Given the description of an element on the screen output the (x, y) to click on. 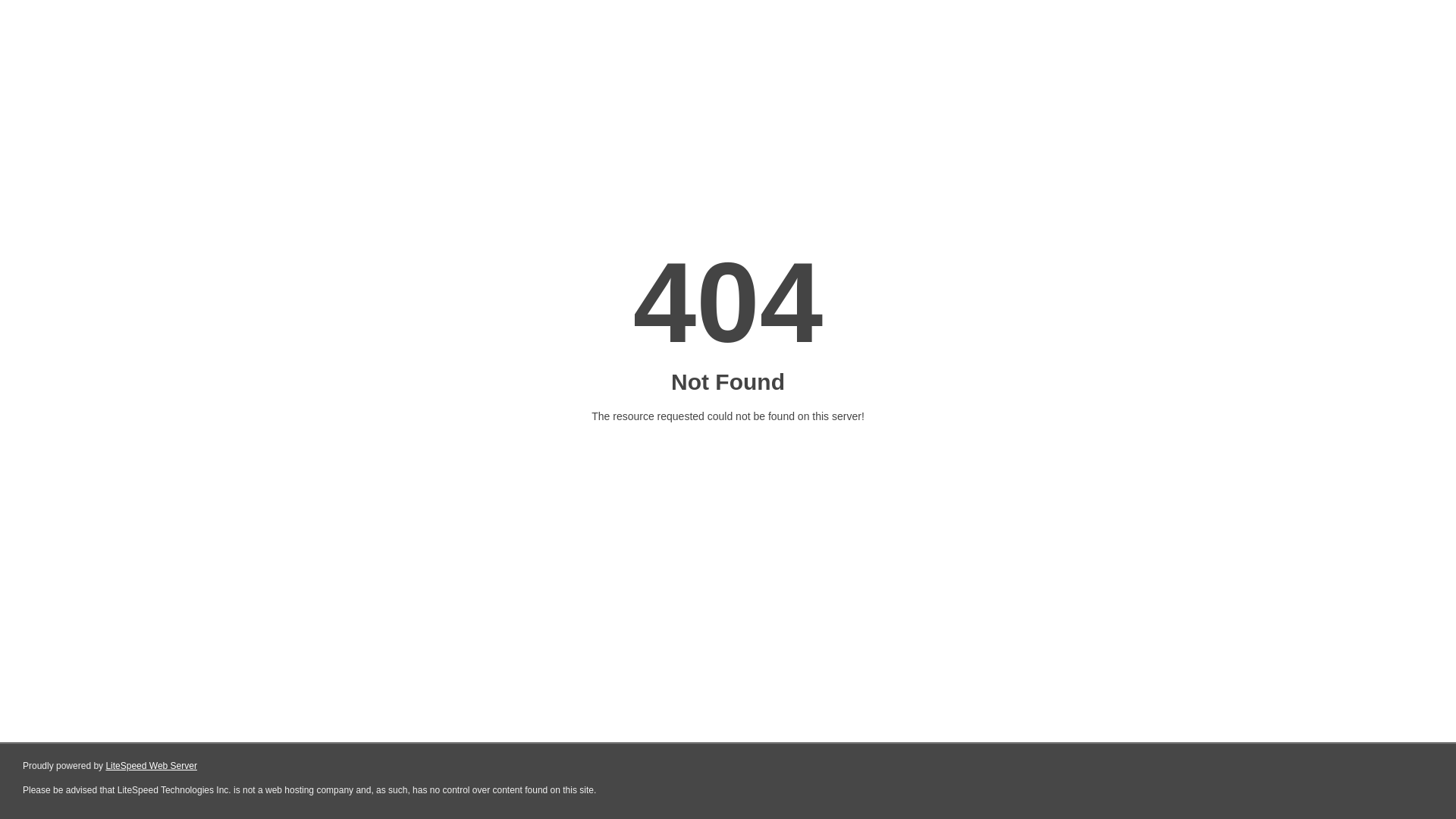
LiteSpeed Web Server Element type: text (151, 765)
